Given the description of an element on the screen output the (x, y) to click on. 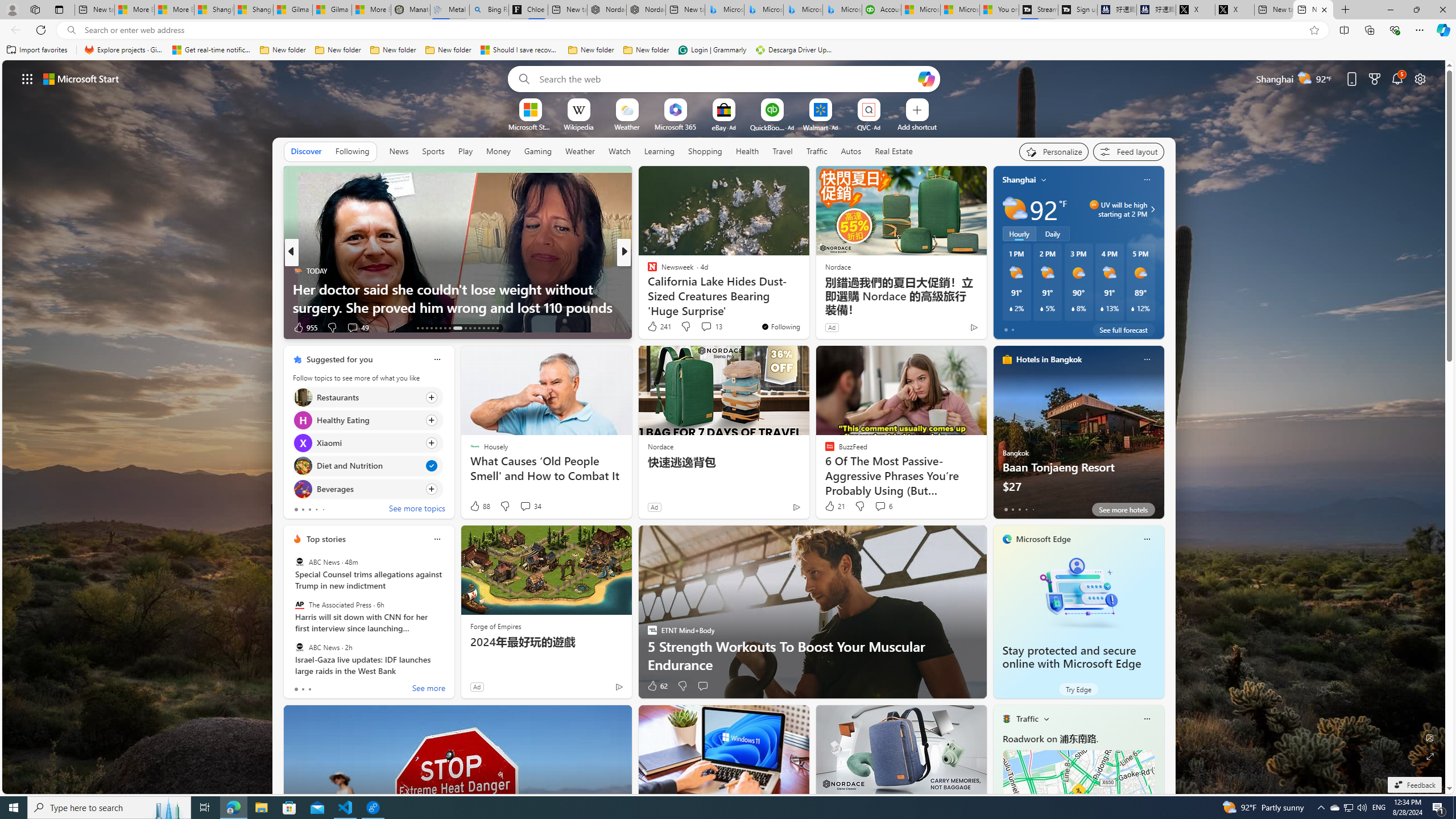
Gaming (537, 151)
Weather (579, 151)
AutomationID: tab-15 (426, 328)
tab-4 (1032, 509)
Daily (1052, 233)
Favorites bar (728, 49)
